Given the description of an element on the screen output the (x, y) to click on. 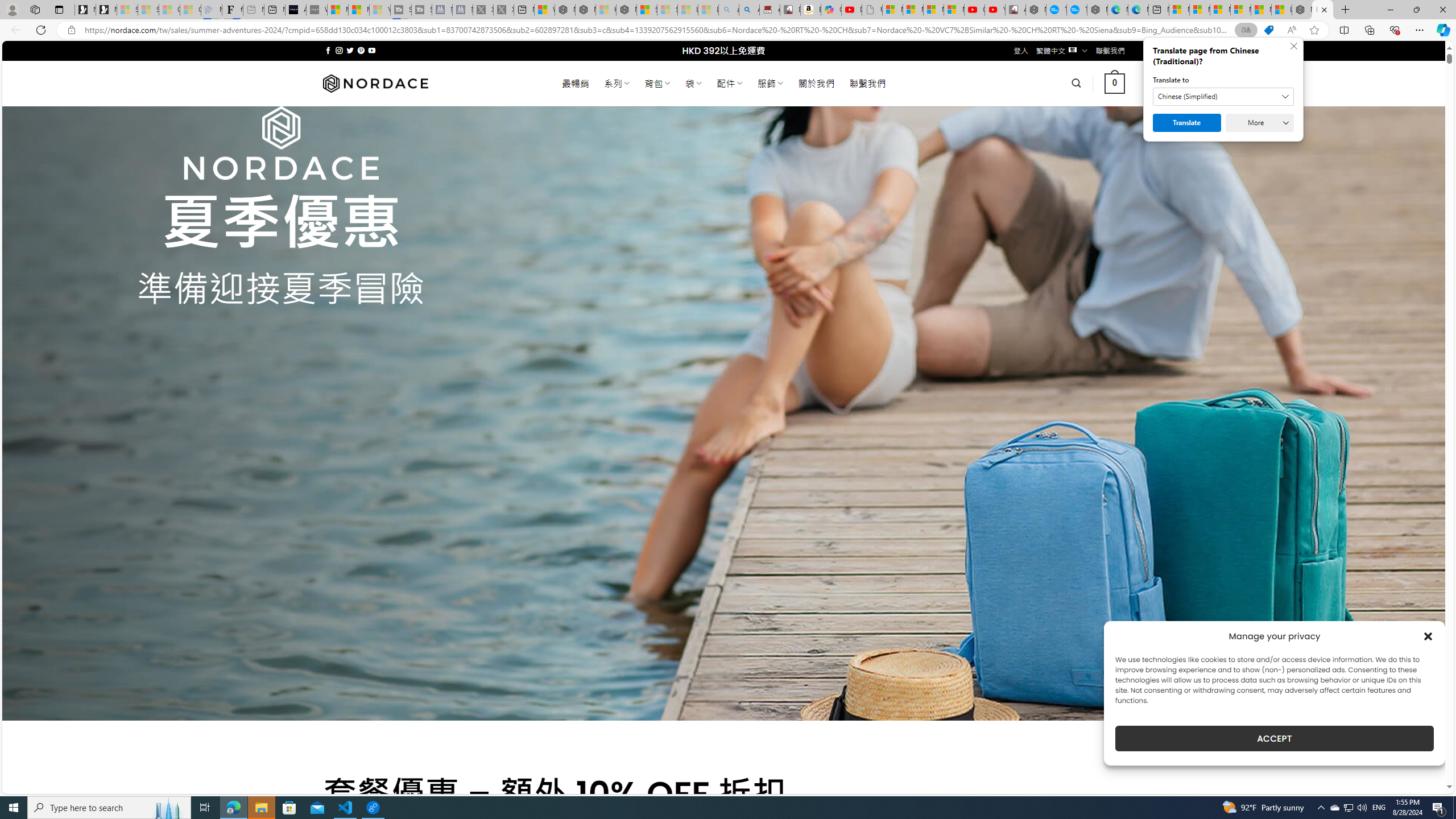
YouTube Kids - An App Created for Kids to Explore Content (994, 9)
Translate to (1223, 96)
